Given the description of an element on the screen output the (x, y) to click on. 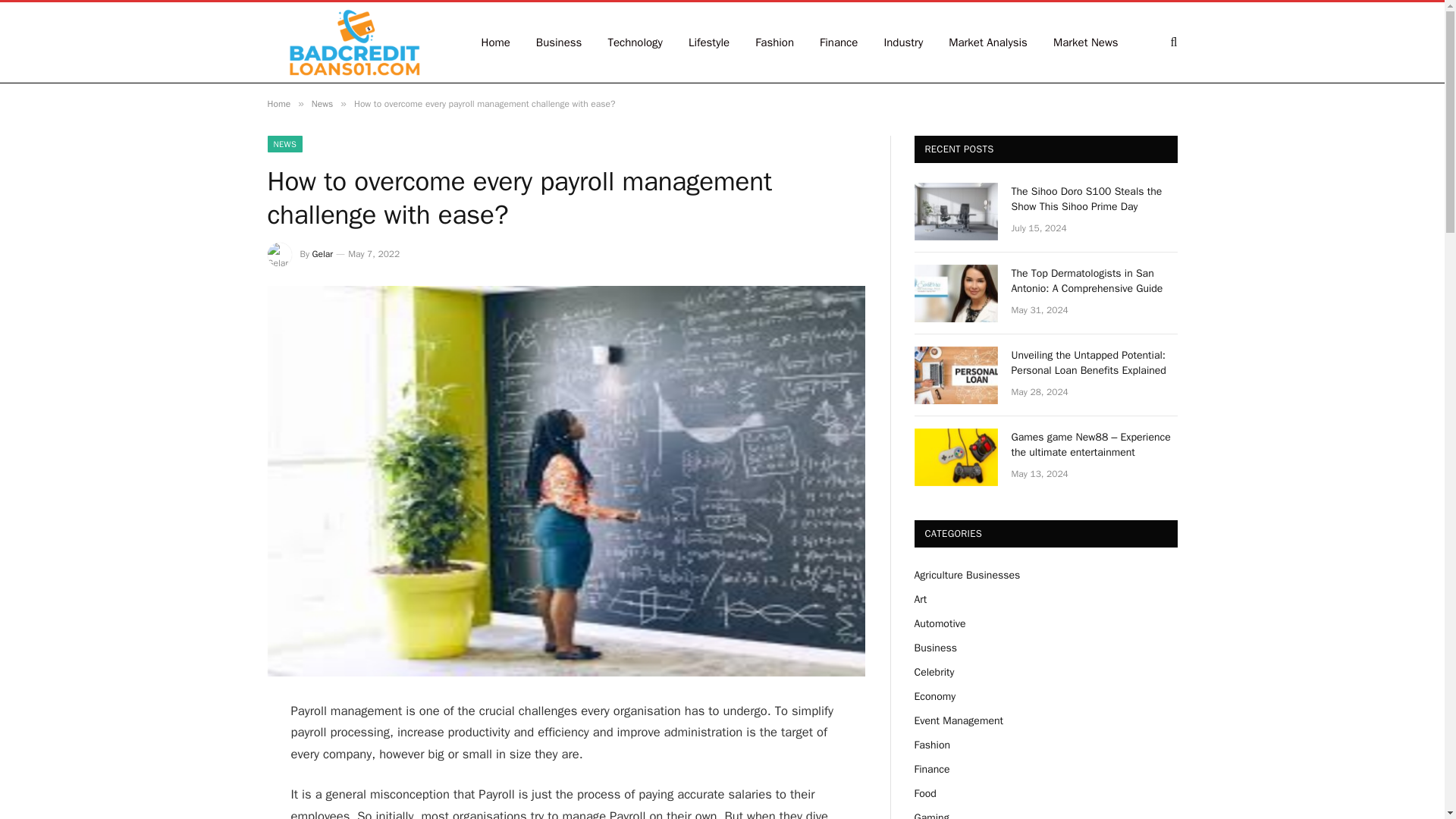
The Top Dermatologists in San Antonio: A Comprehensive Guide (1094, 281)
Business (558, 42)
The Sihoo Doro S100 Steals the Show This Sihoo Prime Day (1094, 199)
Home (277, 103)
Market Analysis (988, 42)
Posts by Gelar (323, 254)
Gelar (323, 254)
The Sihoo Doro S100 Steals the Show This Sihoo Prime Day (955, 211)
Bad Credit Loans News (353, 42)
